Given the description of an element on the screen output the (x, y) to click on. 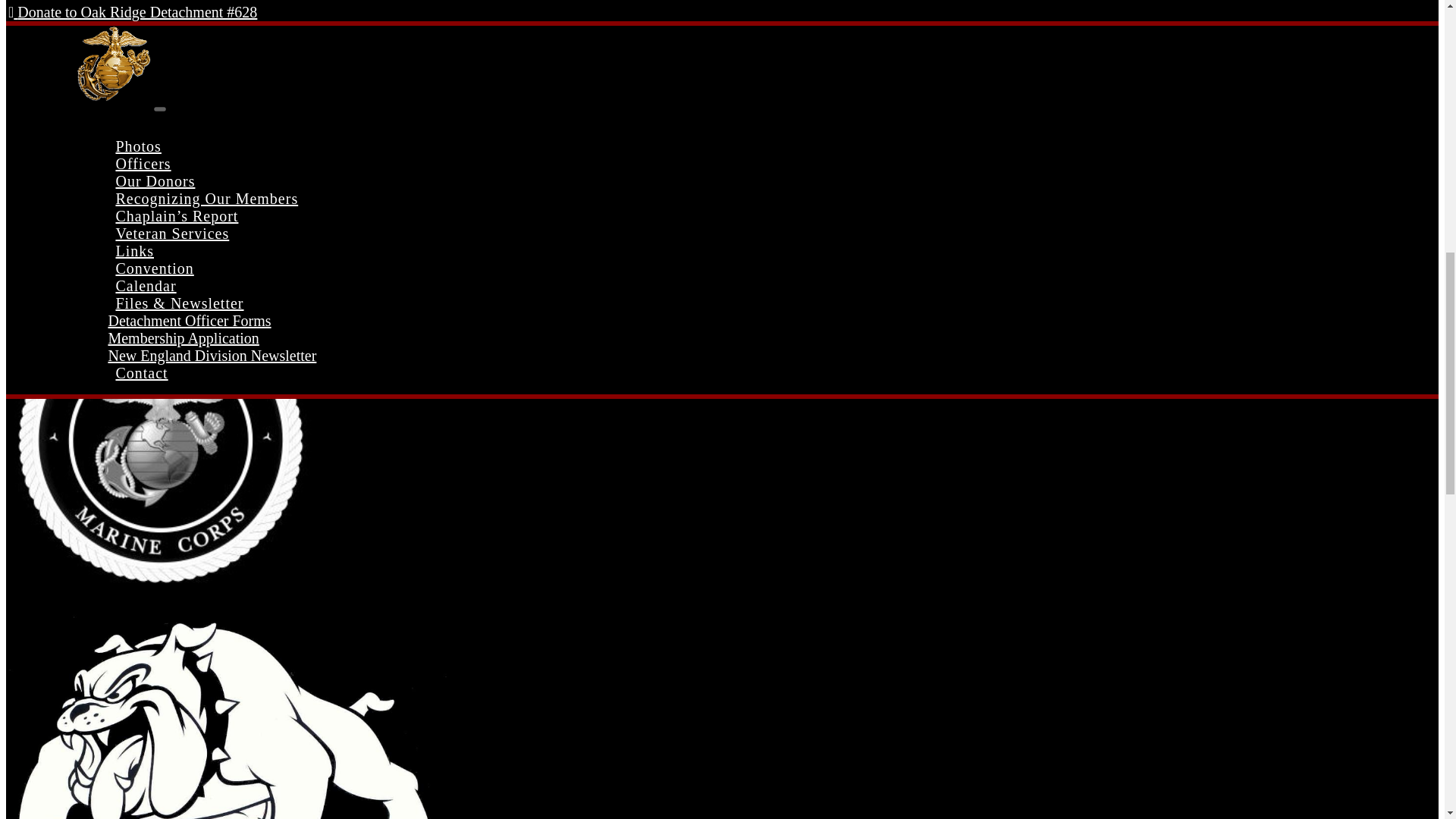
bestega (160, 440)
MarineCorpsLogoBlackAndWhite (226, 714)
